Given the description of an element on the screen output the (x, y) to click on. 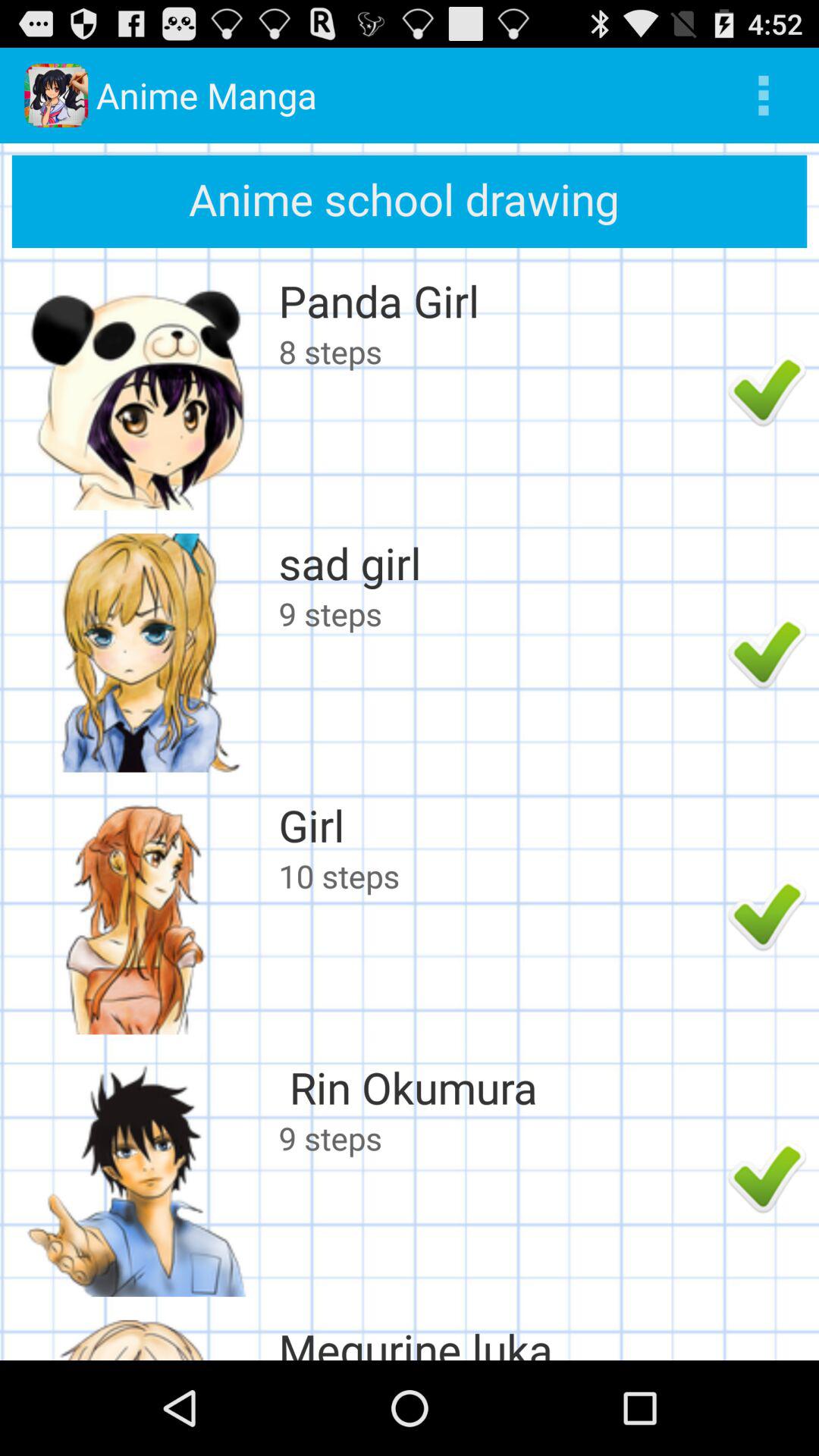
click the icon above sad girl item (498, 351)
